Given the description of an element on the screen output the (x, y) to click on. 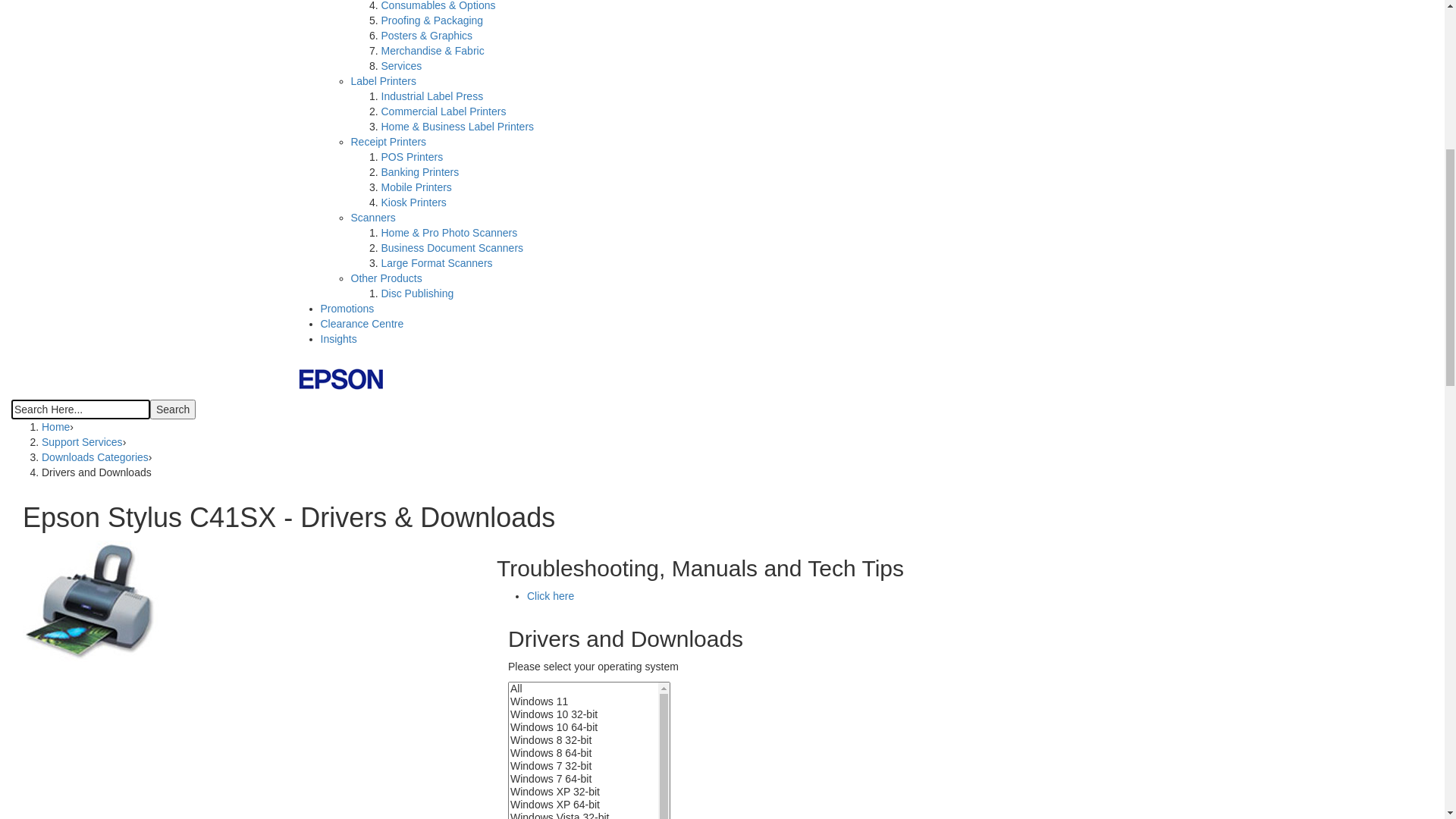
Education Element type: text (403, 377)
Services Element type: text (400, 544)
POS Printers Element type: text (411, 635)
All Products Element type: text (643, 119)
Clearance Centre Element type: text (361, 802)
Options & Accessories Element type: text (433, 332)
Product Registration Element type: text (348, 131)
For Home Office & Small Office Element type: text (454, 241)
Large Format Scanners Element type: text (436, 741)
Proofing & Packaging Element type: text (431, 498)
Solutions Element type: text (402, 195)
Merchandise & Fabric Element type: text (431, 529)
Label Printers Element type: text (382, 559)
Home Theatre Element type: text (414, 407)
Home & Pro Photo Scanners Element type: text (448, 711)
Disc Publishing Element type: text (416, 771)
Industrial Label Press Element type: text (431, 574)
Technical & CAD Element type: text (420, 453)
A4 Colour Element type: text (403, 165)
Business Element type: text (401, 362)
Consumables & Options Element type: text (437, 483)
Printers for Home Element type: text (391, 210)
A4 Mono Element type: text (401, 180)
Papers & Media Element type: text (418, 316)
For Business & Corporate Element type: text (441, 256)
Sign up Element type: text (337, 53)
Home & Business Label Printers Element type: text (456, 605)
Professional Imaging Element type: text (399, 423)
Receipt Printers Element type: text (388, 620)
Photography & Fine Art Element type: text (435, 438)
Shop Online Element type: text (448, 131)
Kiosk Printers Element type: text (412, 680)
Inks & Papers Element type: text (383, 286)
Mobile Printers Element type: text (415, 665)
Home Element type: text (334, 7)
Promotions Element type: text (346, 787)
Inks Element type: text (390, 301)
Scanners Element type: text (372, 696)
For Home Element type: text (403, 225)
Commercial Label Printers Element type: text (442, 589)
Projectors Element type: text (374, 347)
Large Venue Element type: text (410, 392)
Log In Element type: text (334, 68)
Signage & Decor Element type: text (420, 468)
Business Document Scanners Element type: text (451, 726)
Global Element type: text (335, 22)
Posters & Graphics Element type: text (426, 514)
For Photography Element type: text (419, 271)
Australia Element type: text (340, 37)
Support & Downloads Element type: text (552, 131)
Banking Printers Element type: text (419, 650)
Printers for Business Element type: text (664, 134)
A3 Multi-Function Element type: text (656, 150)
Other Products Element type: text (385, 756)
